Given the description of an element on the screen output the (x, y) to click on. 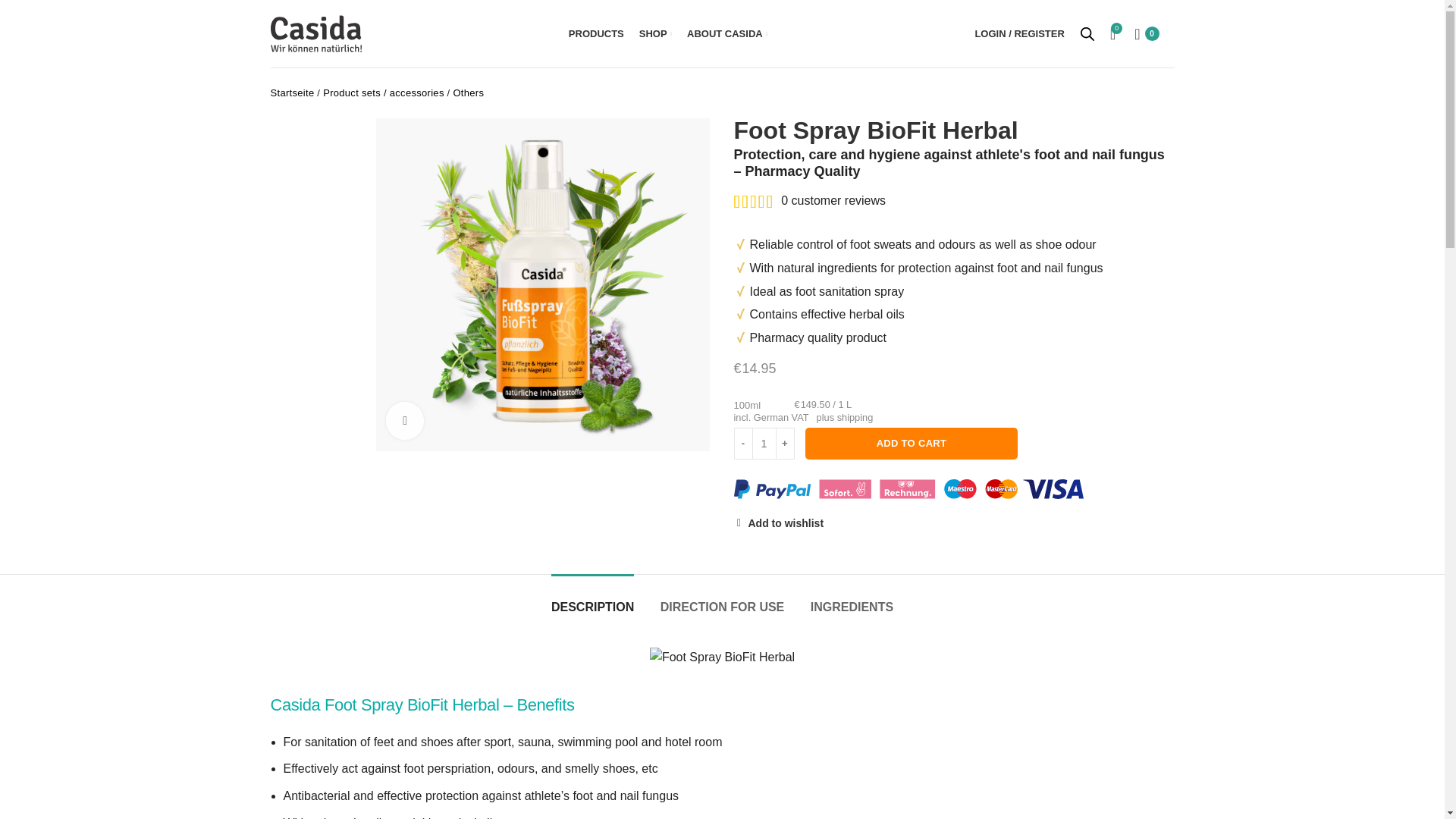
My account (1018, 33)
PRODUCTS (595, 33)
ABOUT CASIDA (726, 33)
Shopping cart (1146, 33)
SHOP (655, 33)
Apothekenprodukt-tierversuchsfrei-Vegan-Made-in-Germany (721, 657)
